Given the description of an element on the screen output the (x, y) to click on. 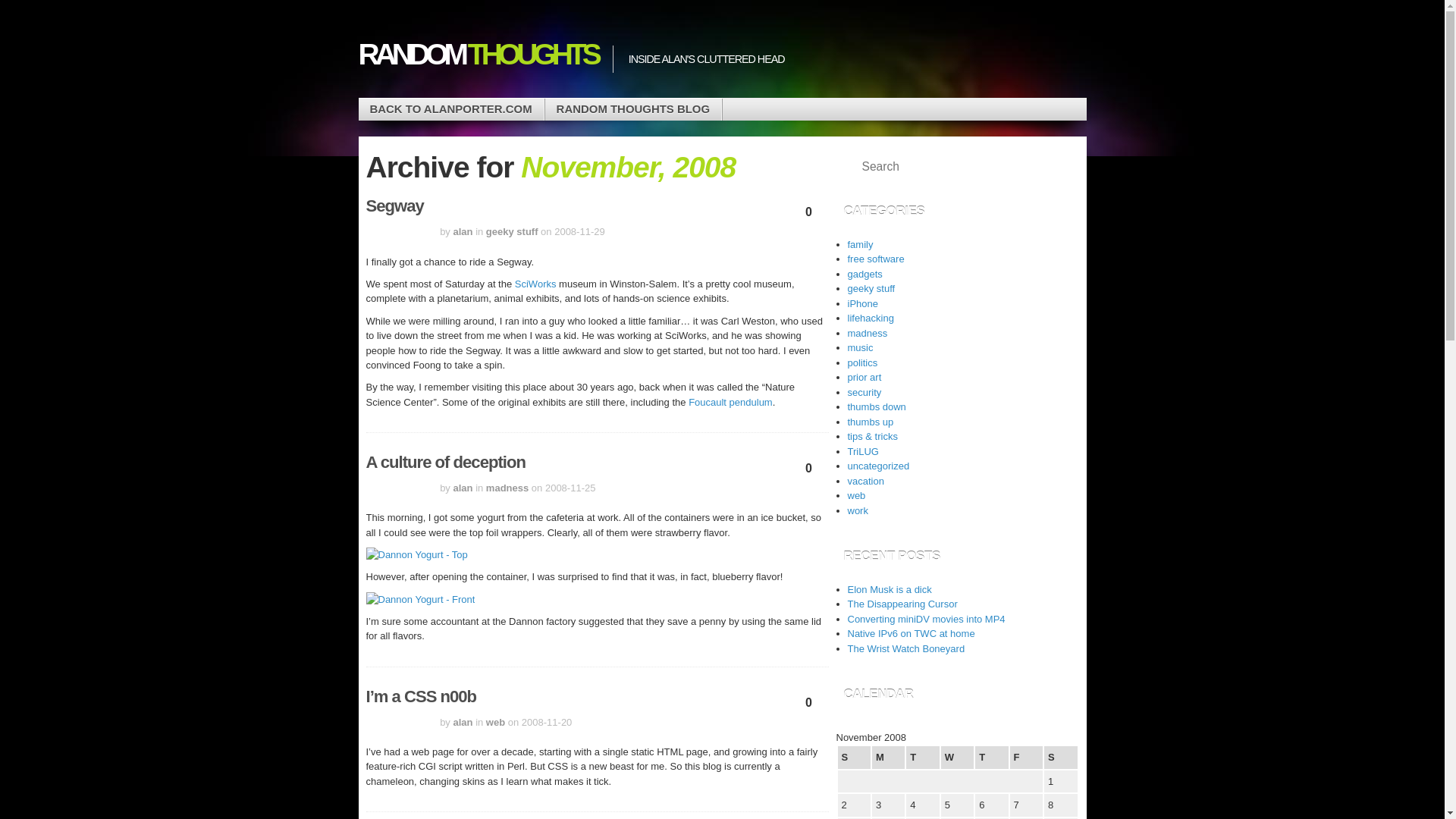
Search Website (1057, 167)
Permalink to A culture of deception (444, 461)
alan (461, 721)
BACK TO ALANPORTER.COM (450, 109)
Segway (394, 205)
Posts by alan (461, 721)
alan (461, 487)
madness (507, 487)
A culture of deception (444, 461)
RANDOM THOUGHTS (477, 54)
Permalink to Segway (394, 205)
SciWorks (535, 283)
lifehacking (870, 317)
geeky stuff (871, 288)
Monday (887, 757)
